Given the description of an element on the screen output the (x, y) to click on. 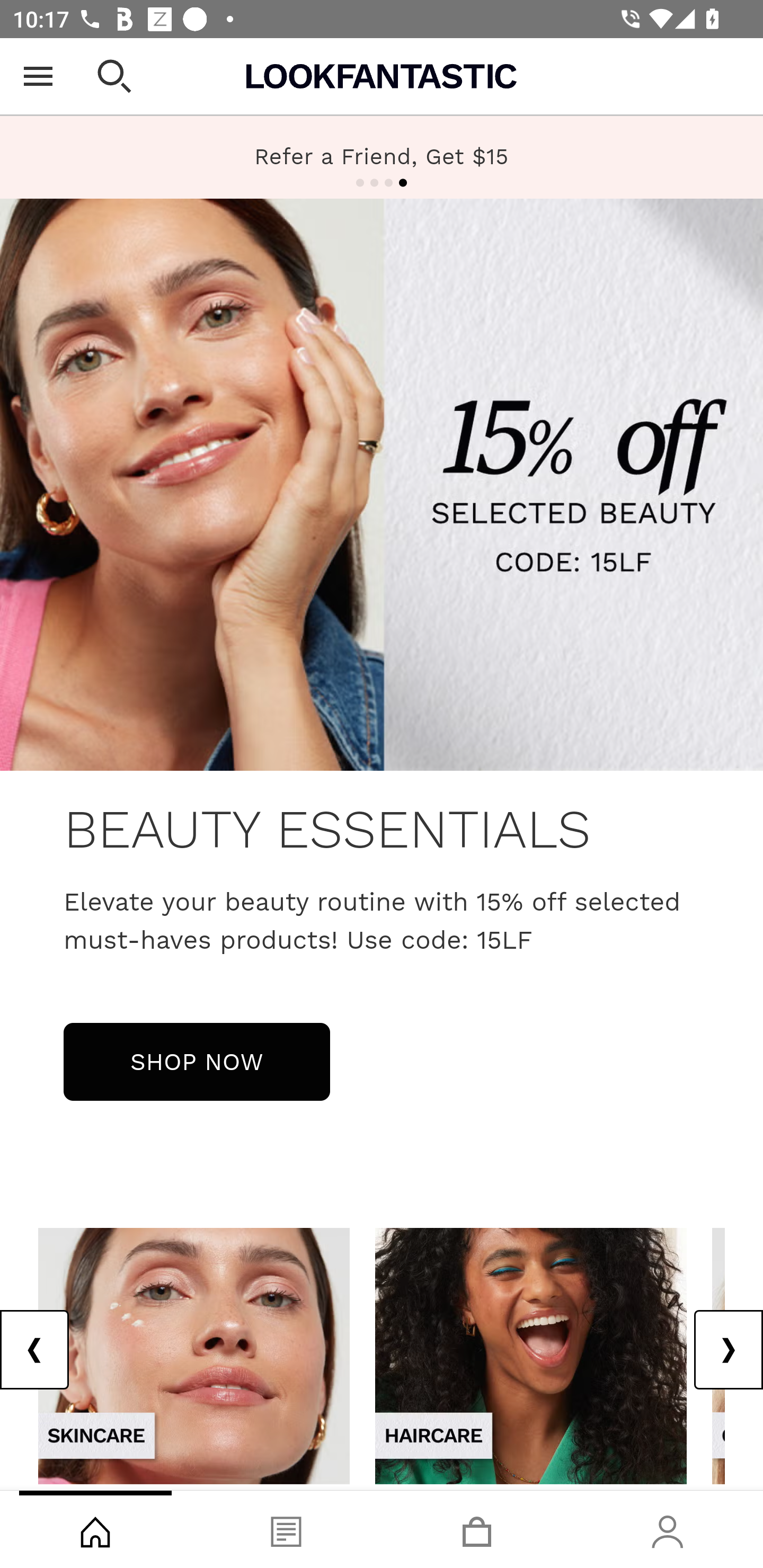
Open Menu (38, 75)
Open search (114, 75)
Lookfantastic USA (381, 75)
SHOP NOW (196, 1061)
view-all (193, 1355)
view-all (530, 1355)
Previous (35, 1349)
Next (727, 1349)
Shop, tab, 1 of 4 (95, 1529)
Blog, tab, 2 of 4 (285, 1529)
Basket, tab, 3 of 4 (476, 1529)
Account, tab, 4 of 4 (667, 1529)
